Given the description of an element on the screen output the (x, y) to click on. 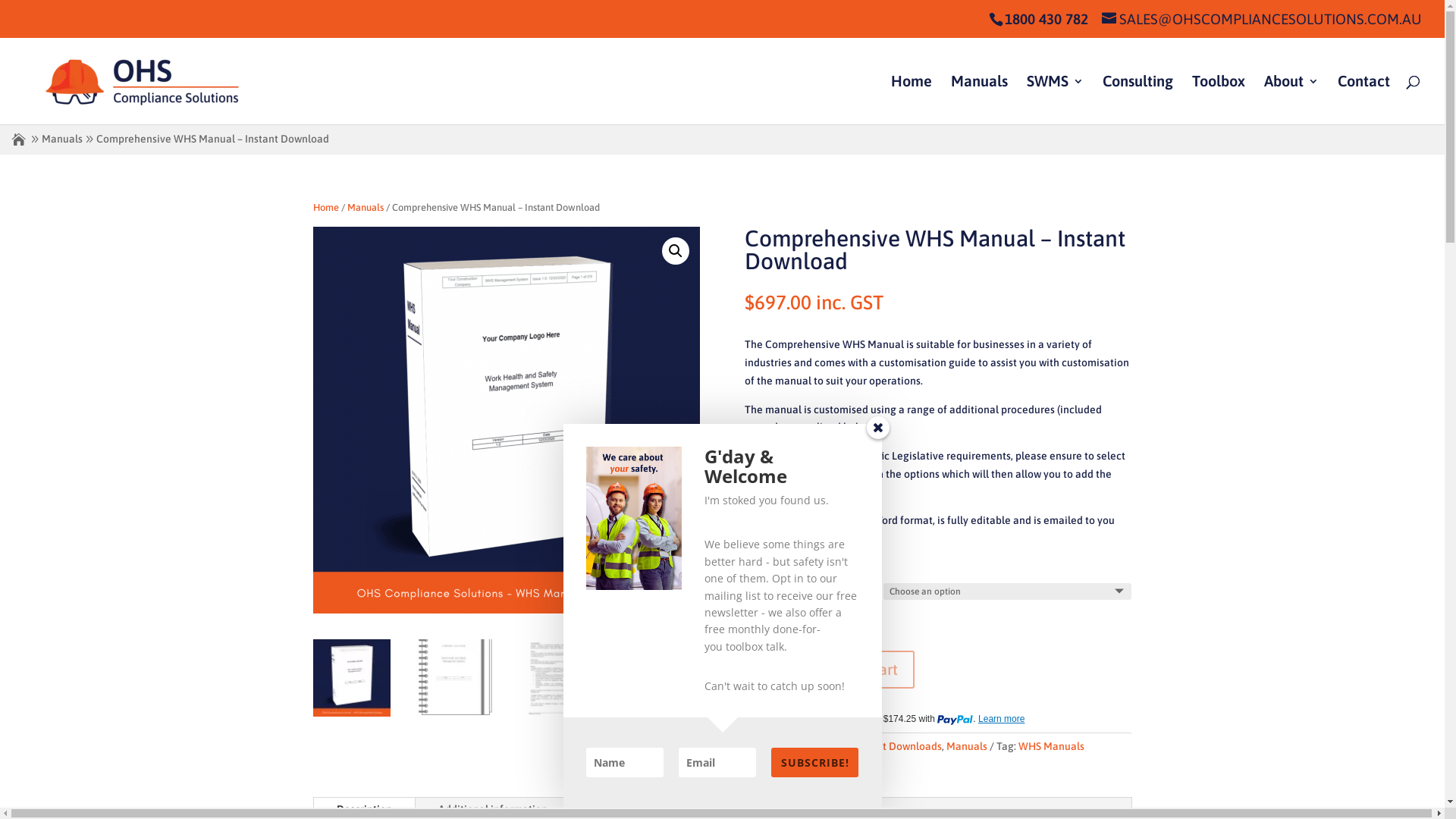
WHS Manuals Element type: text (1051, 746)
SALES@OHSCOMPLIANCESOLUTIONS.COM.AU Element type: text (1261, 18)
PayPal Message 1 Element type: hover (937, 719)
About Element type: text (1291, 99)
Consulting Element type: text (1137, 99)
Manuals Element type: text (978, 99)
Manuals Element type: text (966, 746)
Manuals Element type: text (61, 139)
Instant Downloads Element type: text (897, 746)
Manuals Element type: text (365, 207)
Home Element type: text (325, 207)
Add to cart Element type: text (860, 669)
SWMS Element type: text (1054, 99)
SUBSCRIBE! Element type: text (814, 762)
Toolbox Element type: text (1218, 99)
WHS Manual Template Element type: hover (505, 419)
Home Element type: text (911, 99)
Contact Element type: text (1363, 99)
